Given the description of an element on the screen output the (x, y) to click on. 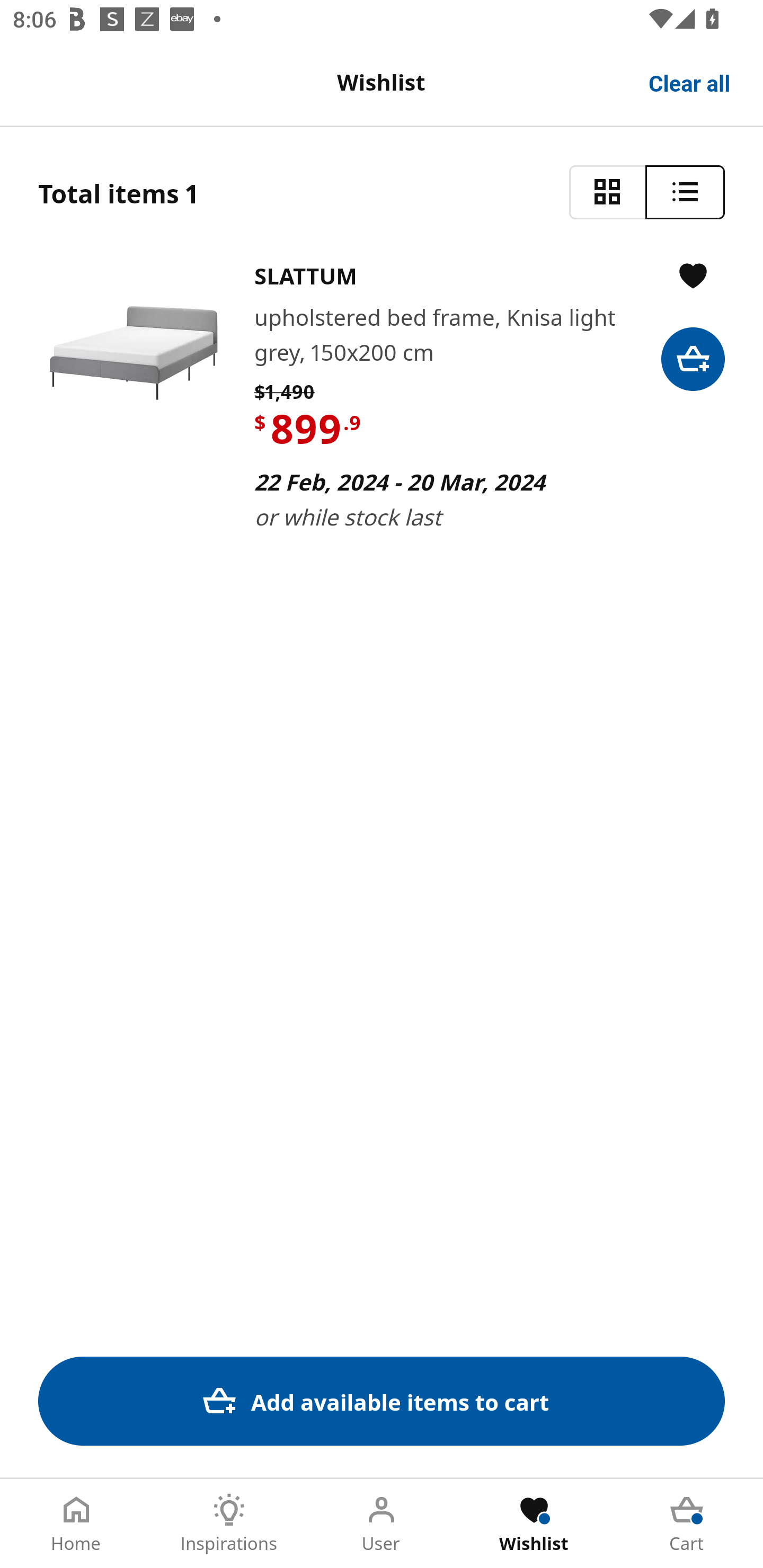
Clear all (689, 81)
Add available items to cart (381, 1400)
Home
Tab 1 of 5 (76, 1522)
Inspirations
Tab 2 of 5 (228, 1522)
User
Tab 3 of 5 (381, 1522)
Wishlist
Tab 4 of 5 (533, 1522)
Cart
Tab 5 of 5 (686, 1522)
